Given the description of an element on the screen output the (x, y) to click on. 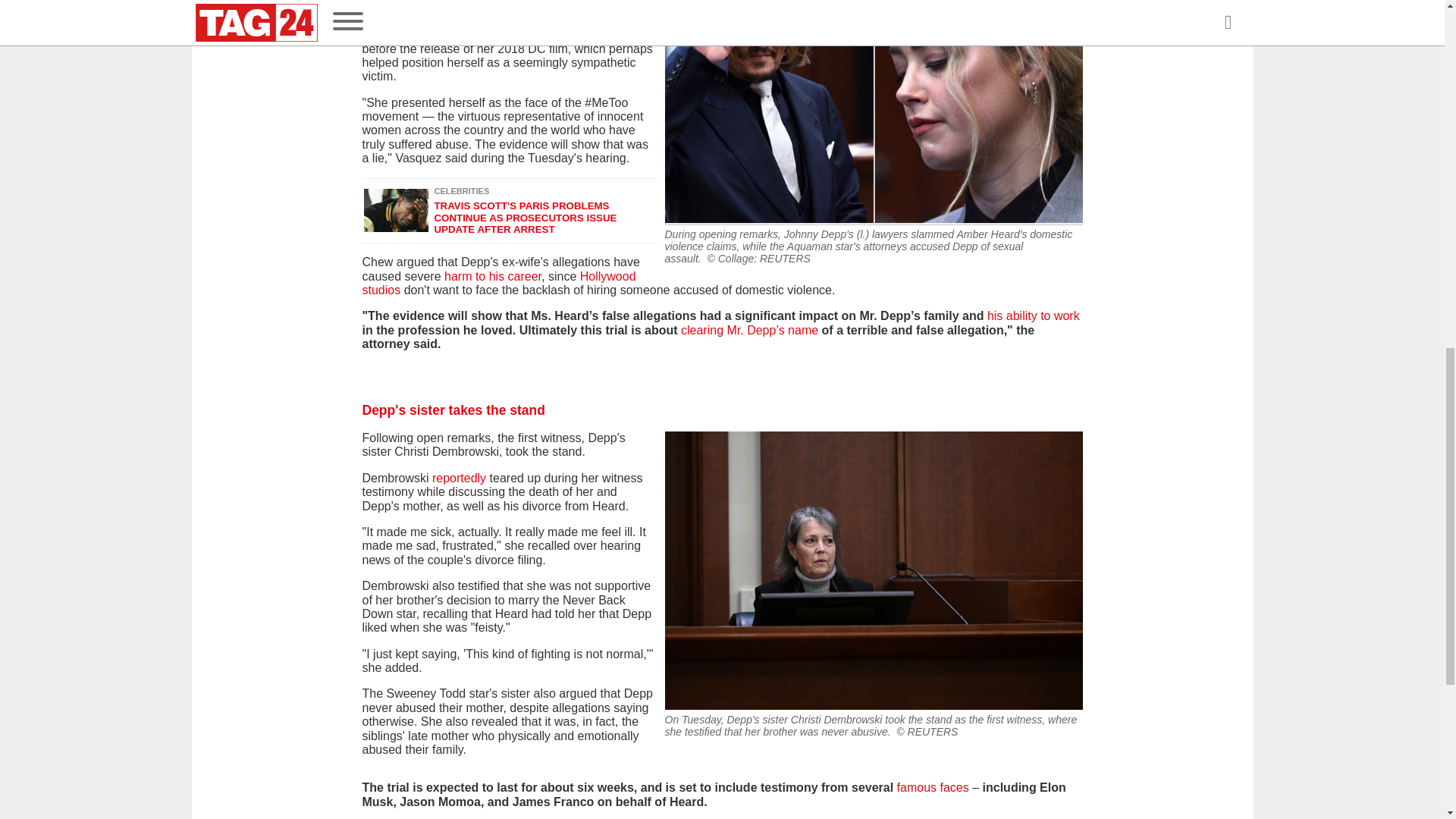
harm to his career (491, 276)
Hollywood studios (499, 283)
his ability to work (1033, 315)
reportedly (457, 477)
famous faces (932, 787)
